Given the description of an element on the screen output the (x, y) to click on. 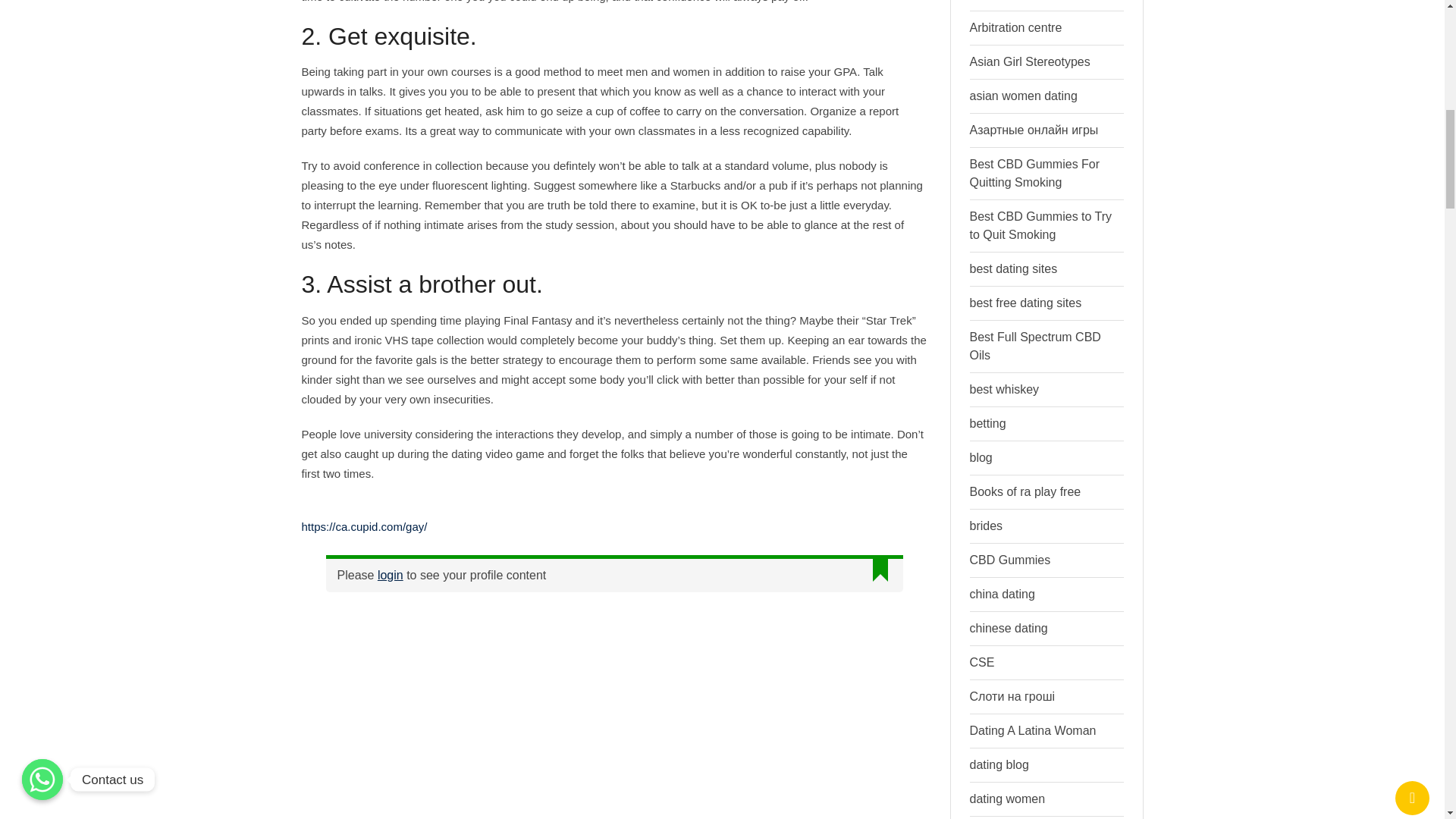
asian women dating (1023, 95)
login (390, 574)
Asian Girl Stereotypes (1029, 61)
Arbitration centre (1015, 27)
